Given the description of an element on the screen output the (x, y) to click on. 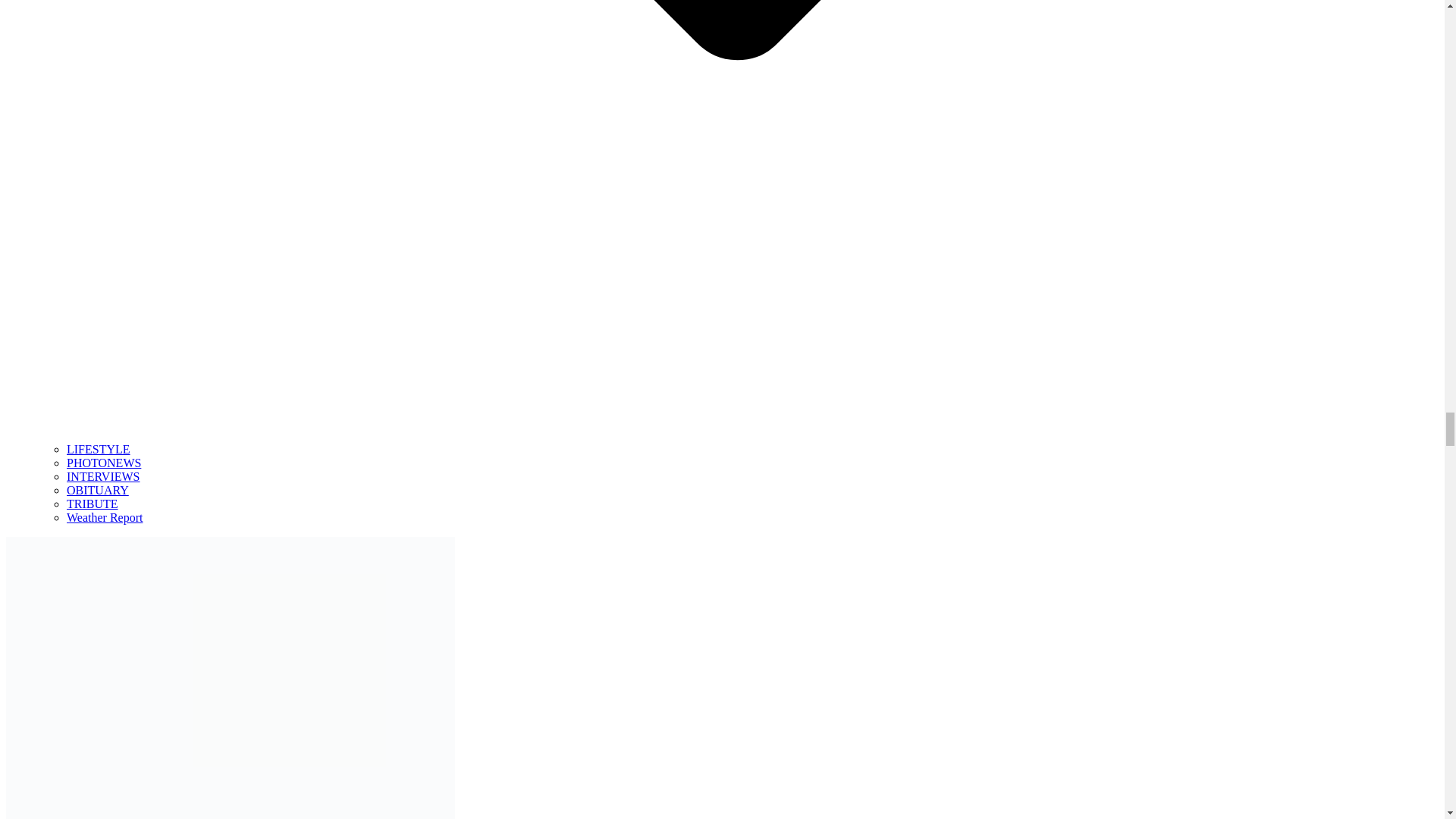
PHOTONEWS (103, 462)
INTERVIEWS (102, 476)
Weather Report (104, 517)
TRIBUTE (91, 503)
OBITUARY (97, 490)
LIFESTYLE (98, 449)
